Given the description of an element on the screen output the (x, y) to click on. 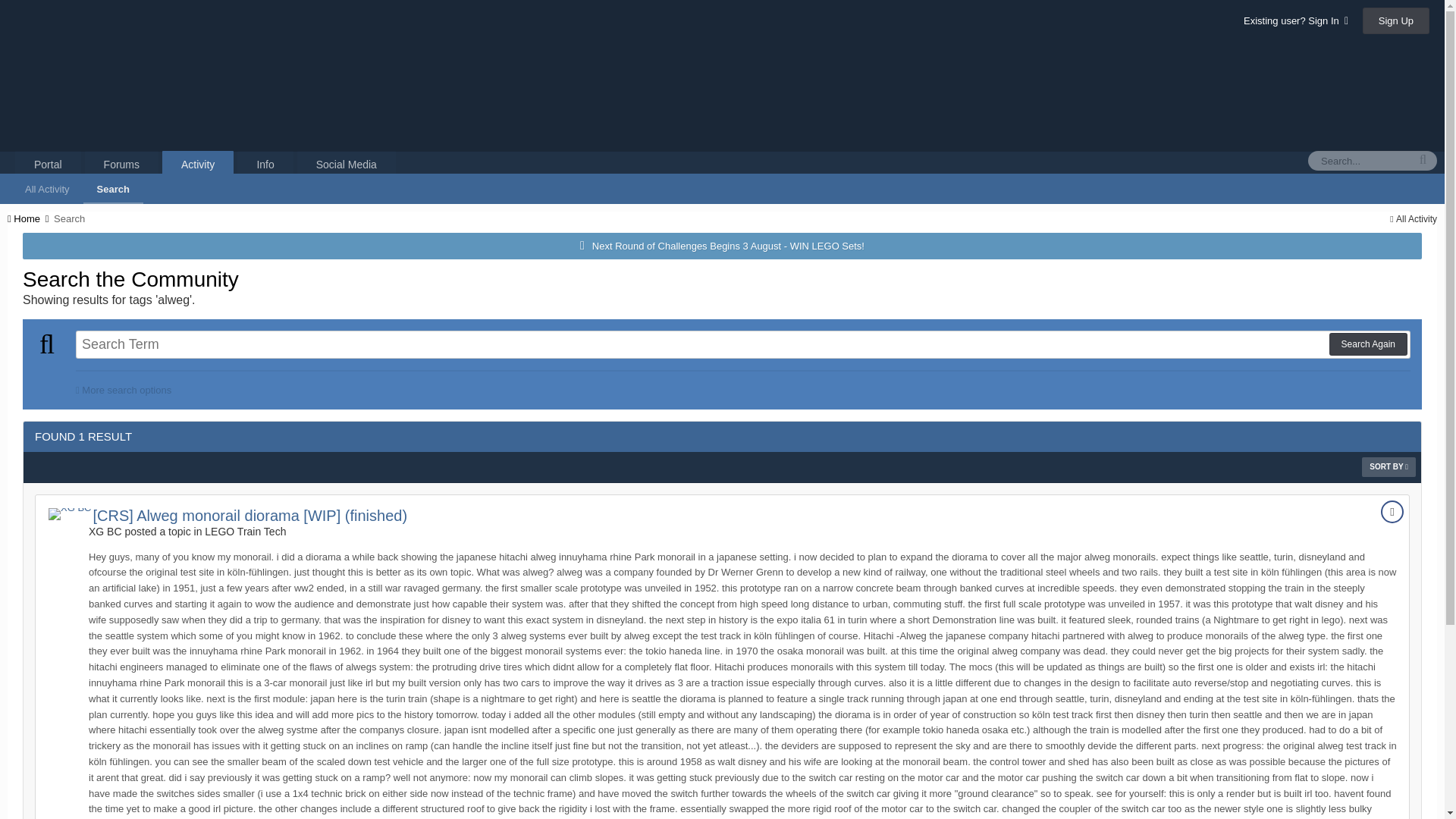
Portal (47, 164)
Forums (121, 164)
Sign Up (1395, 20)
Go to XG BC's profile (69, 513)
Topic (1391, 511)
Home (28, 218)
Existing user? Sign In   (1295, 20)
